Given the description of an element on the screen output the (x, y) to click on. 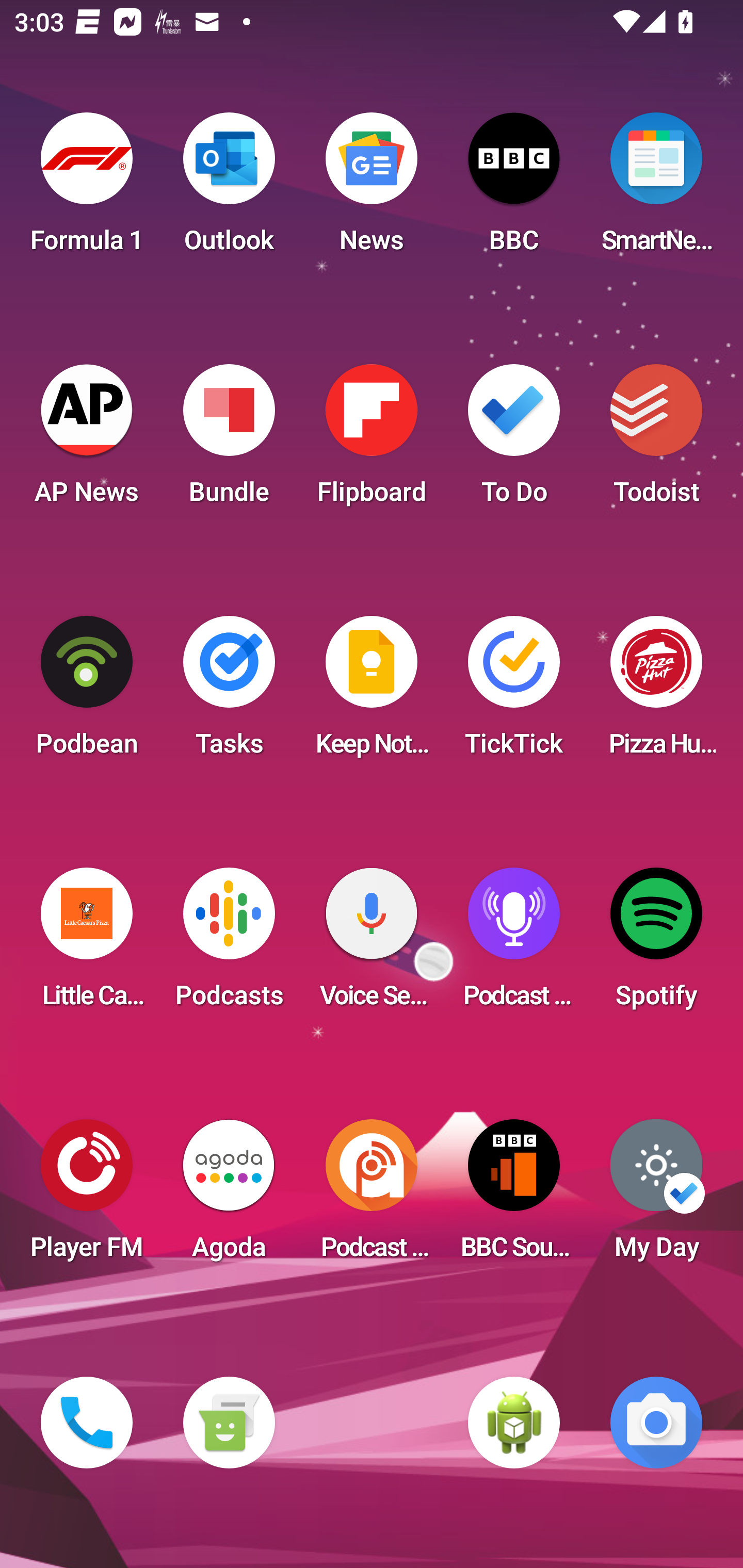
Formula 1 (86, 188)
Outlook (228, 188)
News (371, 188)
BBC (513, 188)
SmartNews (656, 188)
AP News (86, 440)
Bundle (228, 440)
Flipboard (371, 440)
To Do (513, 440)
Todoist (656, 440)
Podbean (86, 692)
Tasks (228, 692)
Keep Notes (371, 692)
TickTick (513, 692)
Pizza Hut HK & Macau (656, 692)
Little Caesars Pizza (86, 943)
Podcasts (228, 943)
Voice Search (371, 943)
Podcast Player (513, 943)
Spotify (656, 943)
Player FM (86, 1195)
Agoda (228, 1195)
Podcast Addict (371, 1195)
BBC Sounds (513, 1195)
My Day (656, 1195)
Phone (86, 1422)
Messaging (228, 1422)
WebView Browser Tester (513, 1422)
Camera (656, 1422)
